Given the description of an element on the screen output the (x, y) to click on. 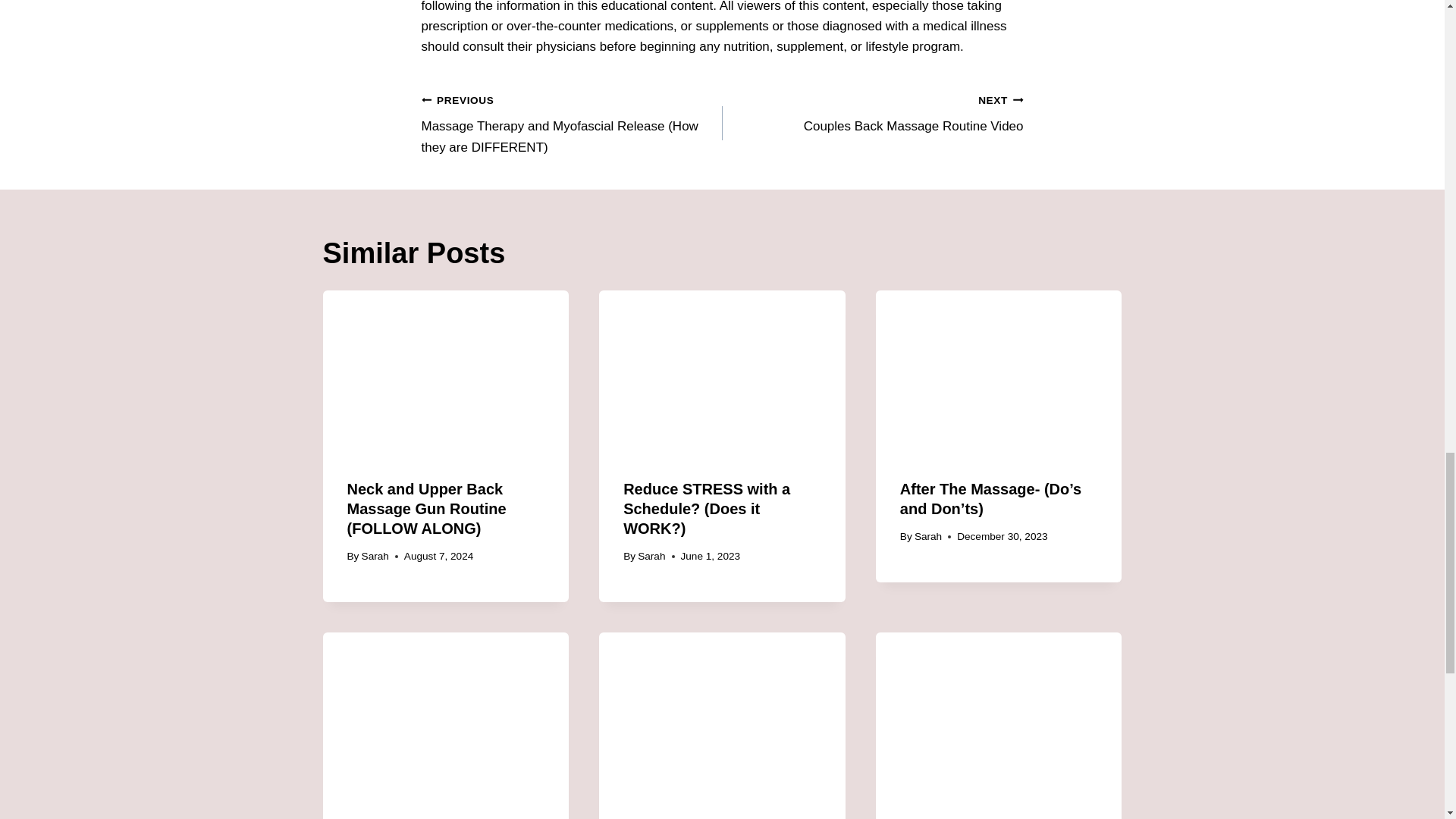
Sarah (651, 555)
Sarah (928, 536)
Sarah (872, 113)
